Given the description of an element on the screen output the (x, y) to click on. 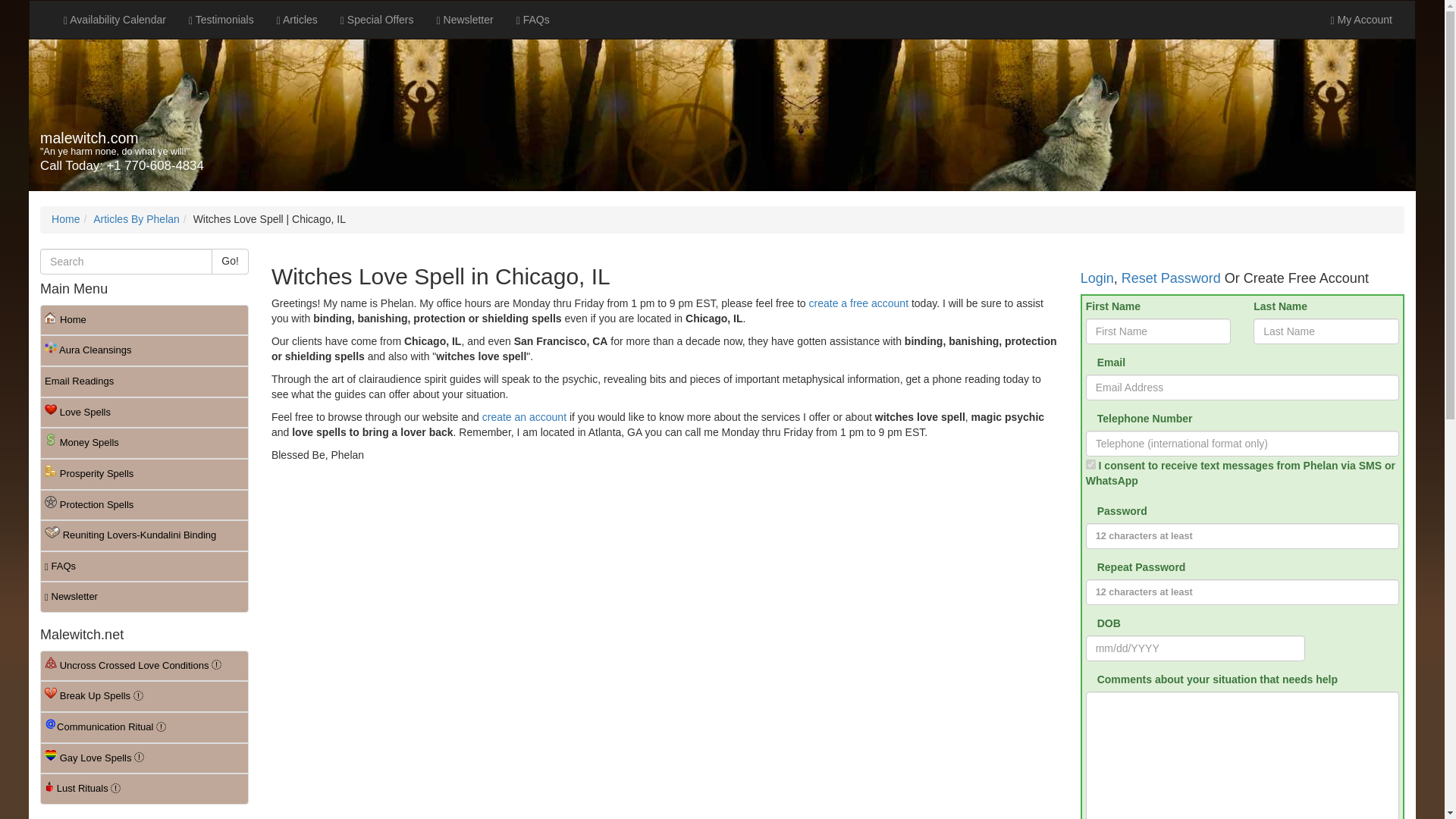
availability calendar (114, 19)
1 (1091, 464)
Reuniting Lovers-Kundalini Binding (144, 535)
Articles By Phelan (136, 218)
Go! (229, 261)
prosperity spells (144, 473)
articles by phelan (136, 218)
email readings (144, 381)
Break Up Spells (144, 695)
Home (65, 218)
love spells (144, 412)
my account information (1361, 19)
Newsletter (465, 19)
Lust Rituals (144, 788)
Special Offers (377, 19)
